Given the description of an element on the screen output the (x, y) to click on. 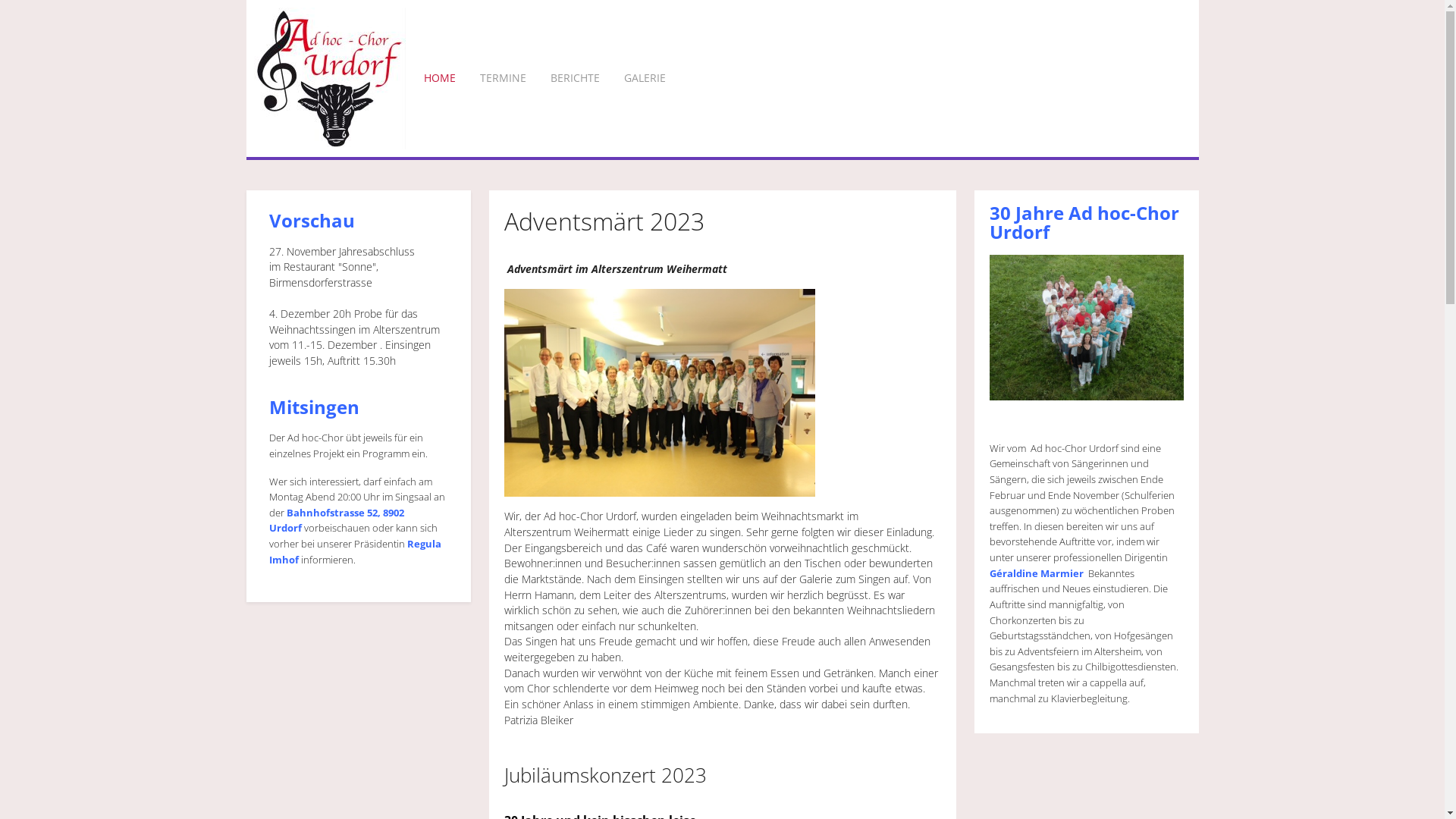
Bahnhofstrasse 52, 8902 Urdorf Element type: text (335, 520)
GALERIE Element type: text (644, 77)
TERMINE Element type: text (502, 77)
Regula Imhof Element type: text (354, 551)
BERICHTE Element type: text (574, 77)
HOME Element type: text (439, 77)
